Given the description of an element on the screen output the (x, y) to click on. 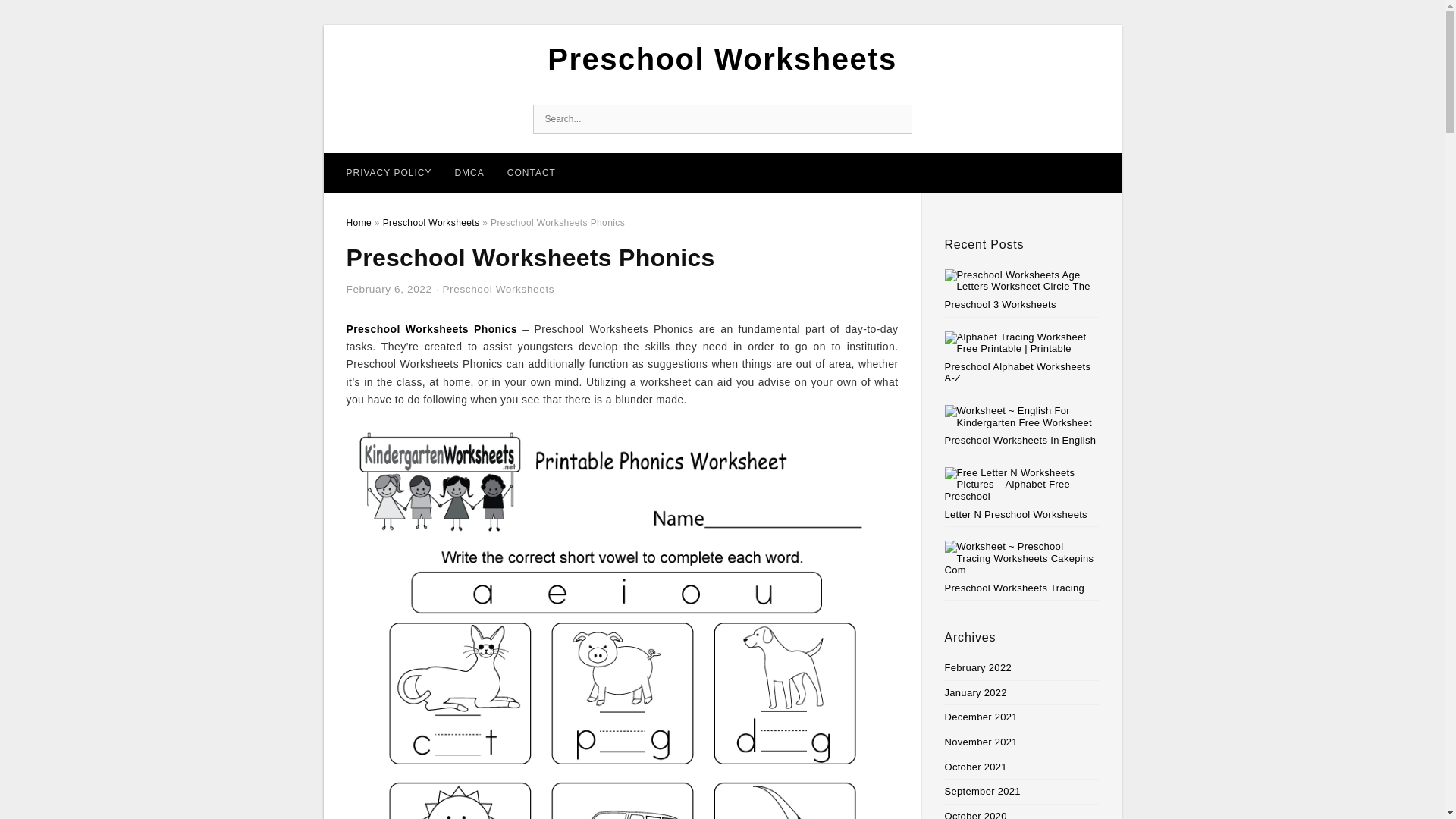
Preschool Worksheets (431, 222)
Search (895, 119)
Search (895, 119)
Home (358, 222)
Search for: (721, 119)
PRIVACY POLICY (389, 172)
Preschool Worksheets Phonics (431, 328)
CONTACT (531, 172)
Preschool Worksheets (721, 59)
